Given the description of an element on the screen output the (x, y) to click on. 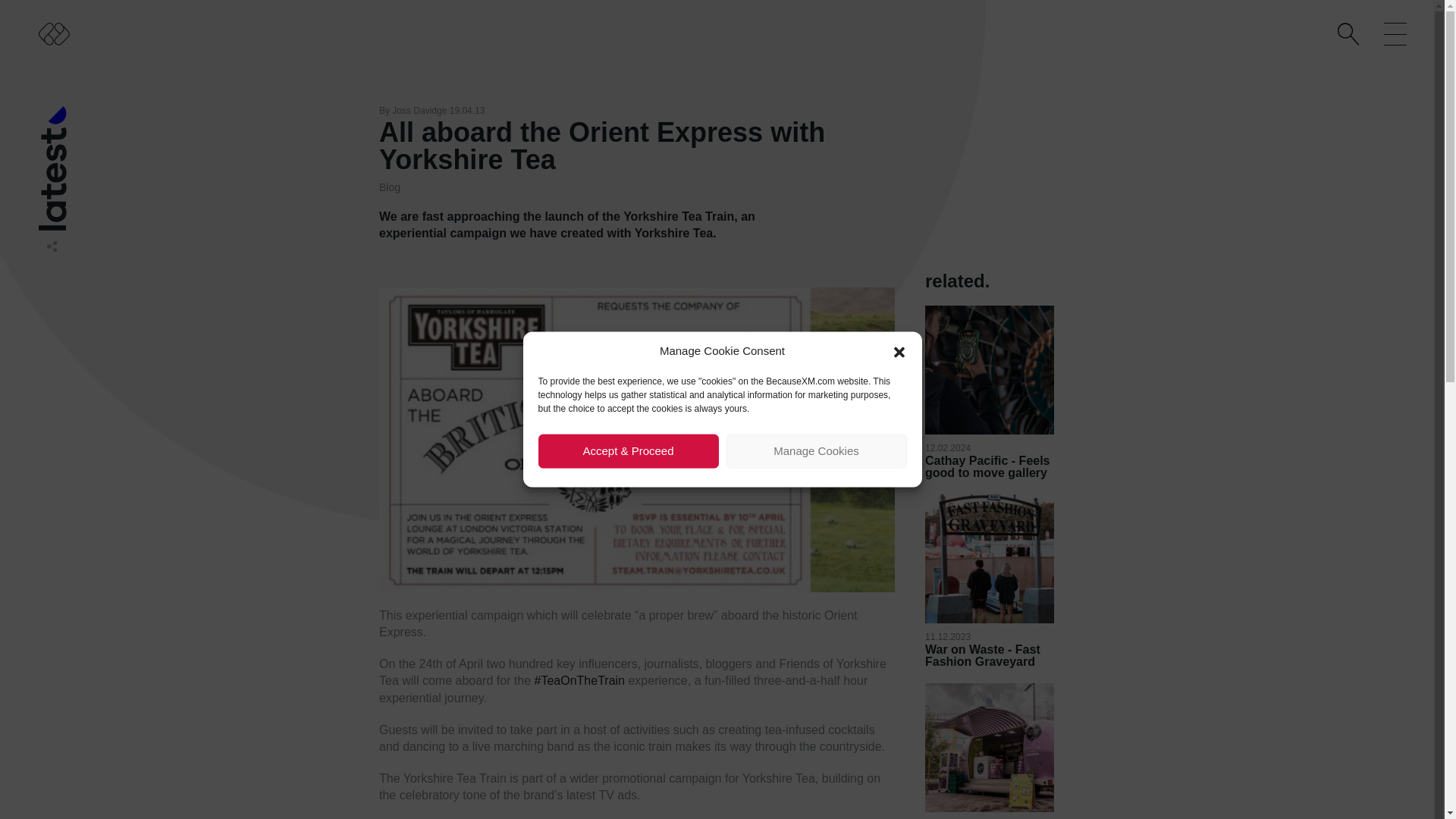
Blog (389, 186)
Manage Cookies (816, 450)
Joss Davidge (418, 110)
